Given the description of an element on the screen output the (x, y) to click on. 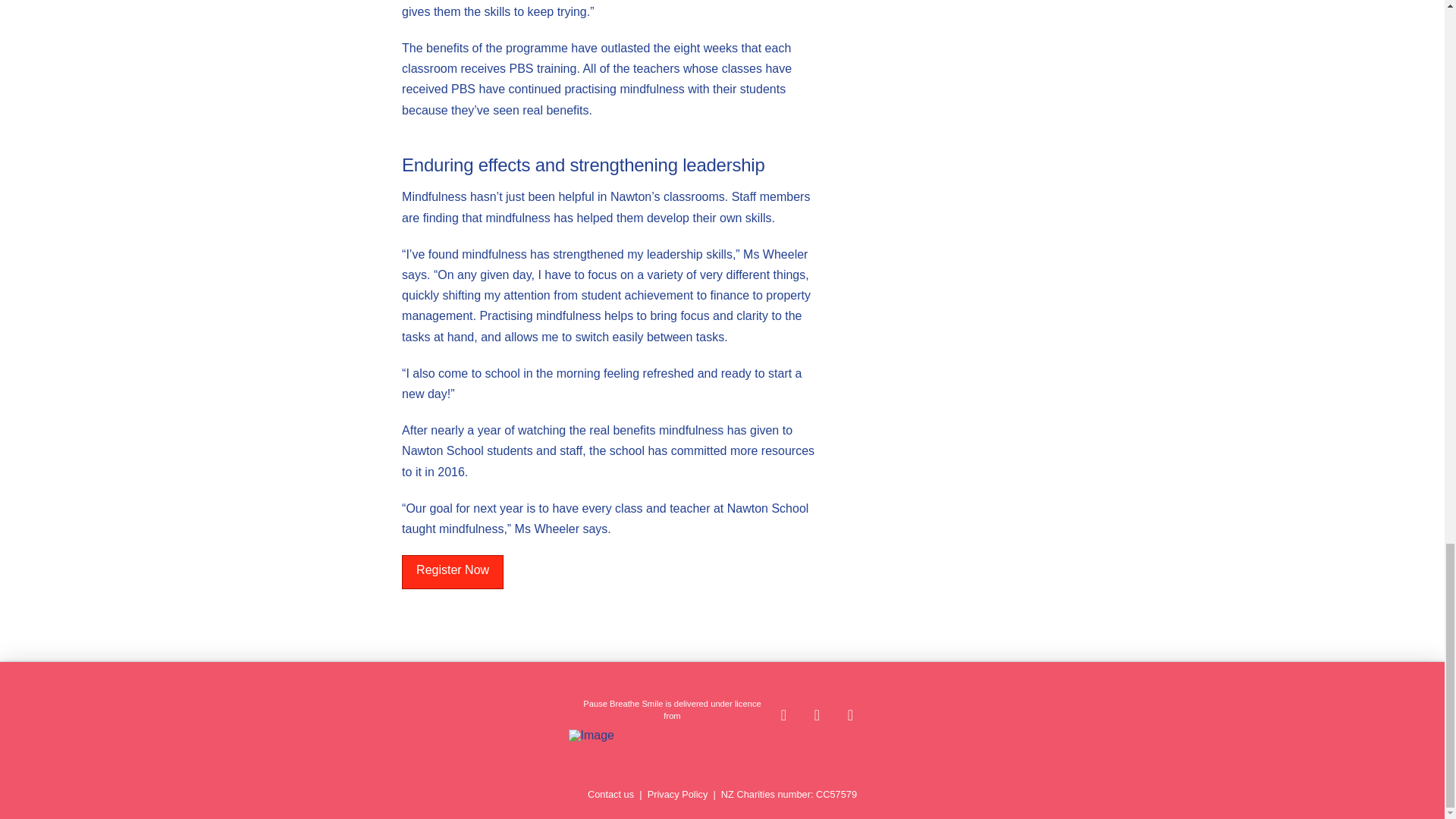
Contact us (610, 794)
Register Now (452, 571)
Privacy Policy (677, 794)
